Given the description of an element on the screen output the (x, y) to click on. 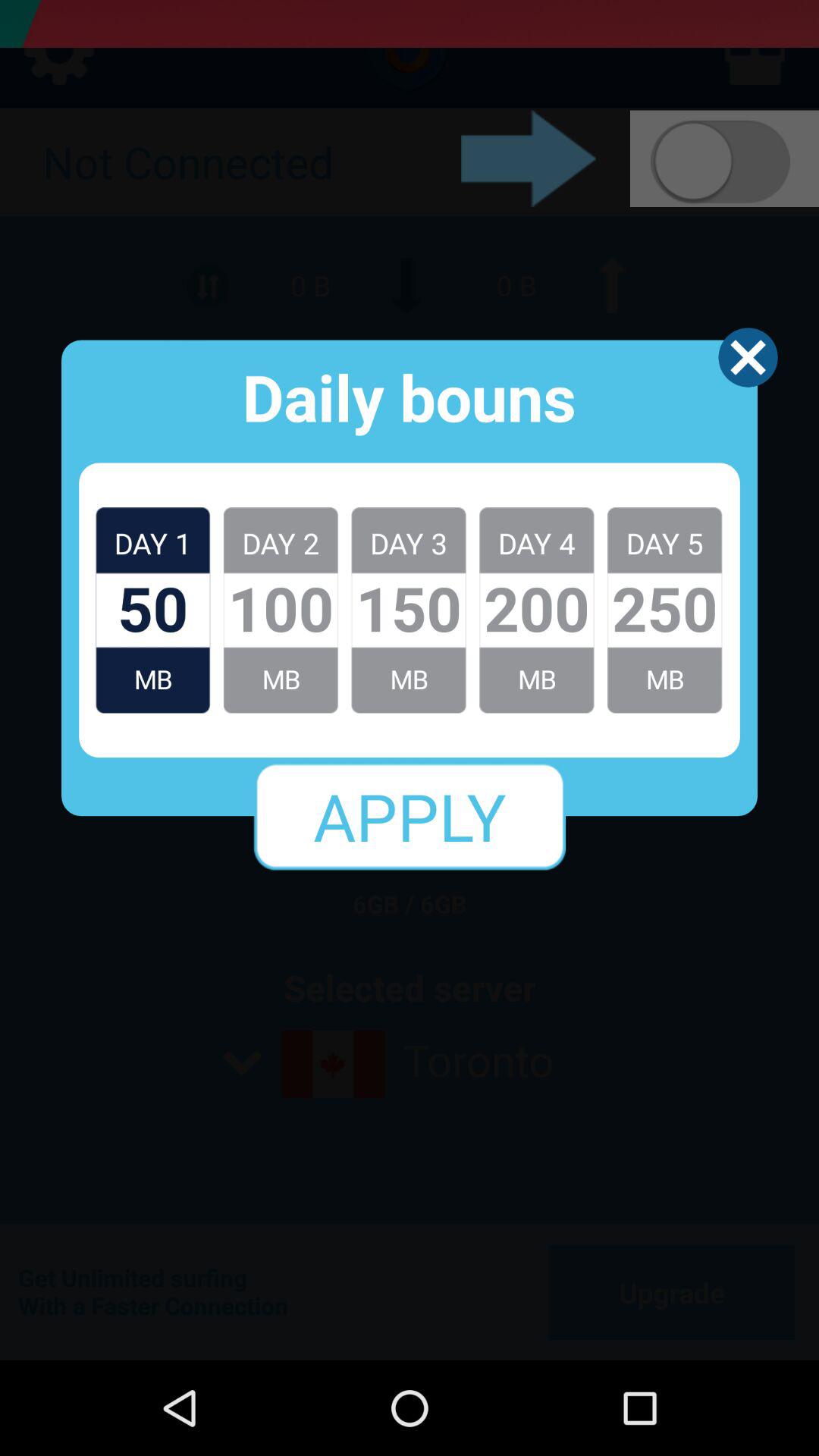
close window (747, 357)
